Given the description of an element on the screen output the (x, y) to click on. 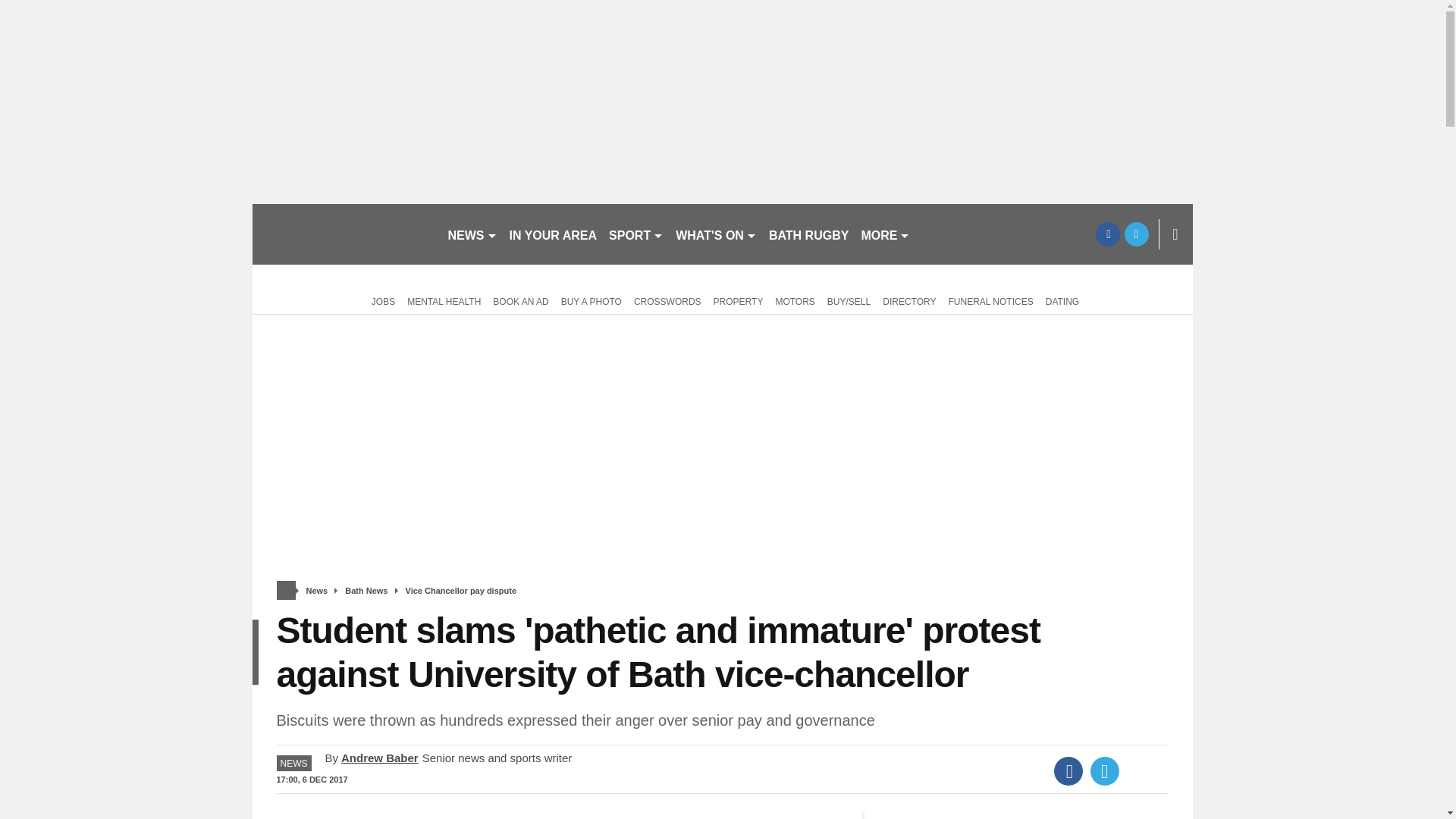
IN YOUR AREA (553, 233)
CROSSWORDS (667, 300)
NEWS (471, 233)
BOOK AN AD (520, 300)
bathchronicle (342, 233)
MENTAL HEALTH (443, 300)
SPORT (635, 233)
BUY A PHOTO (590, 300)
BATH RUGBY (808, 233)
WHAT'S ON (715, 233)
